Given the description of an element on the screen output the (x, y) to click on. 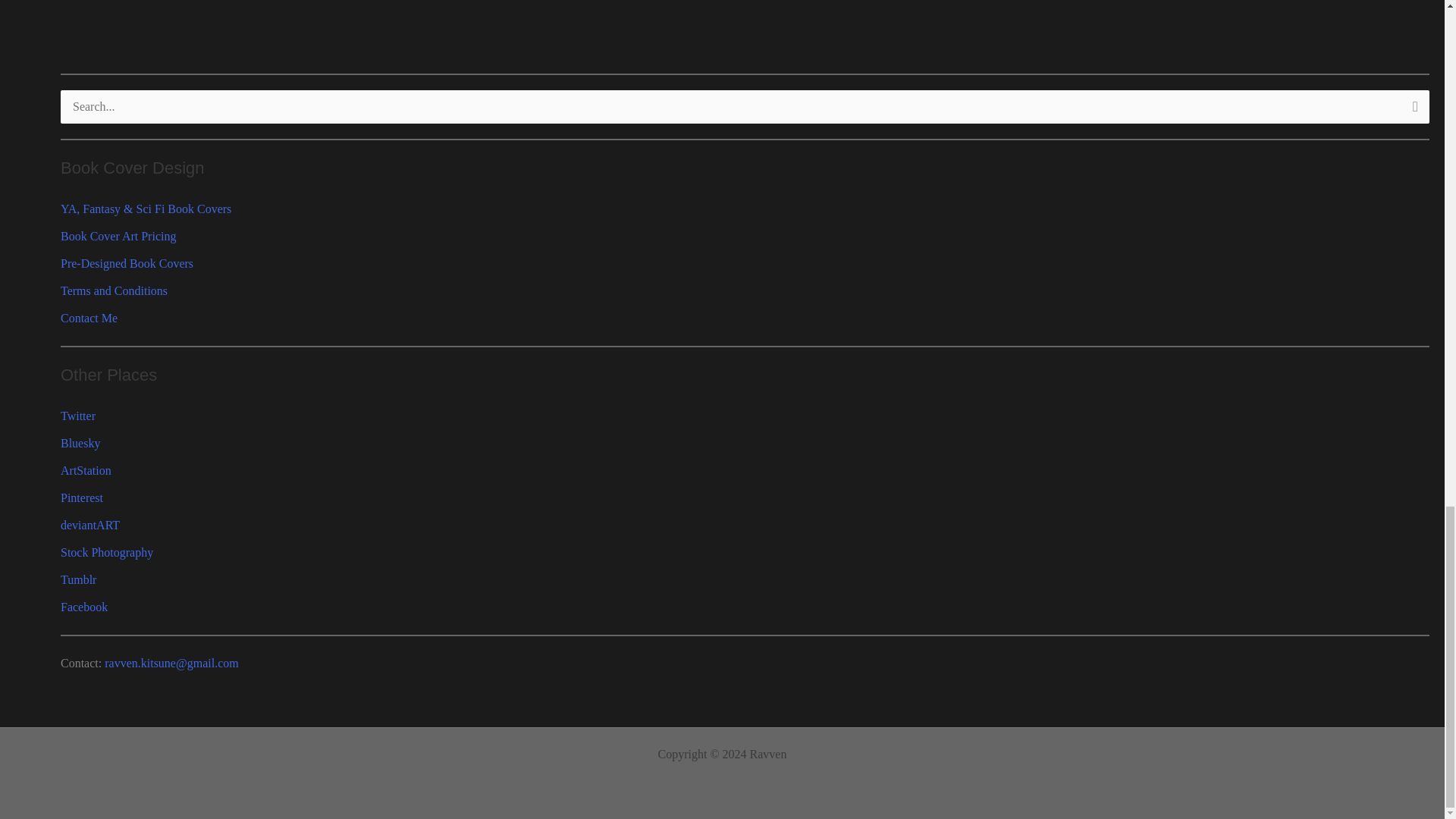
Search (1411, 111)
Search (1411, 111)
